Given the description of an element on the screen output the (x, y) to click on. 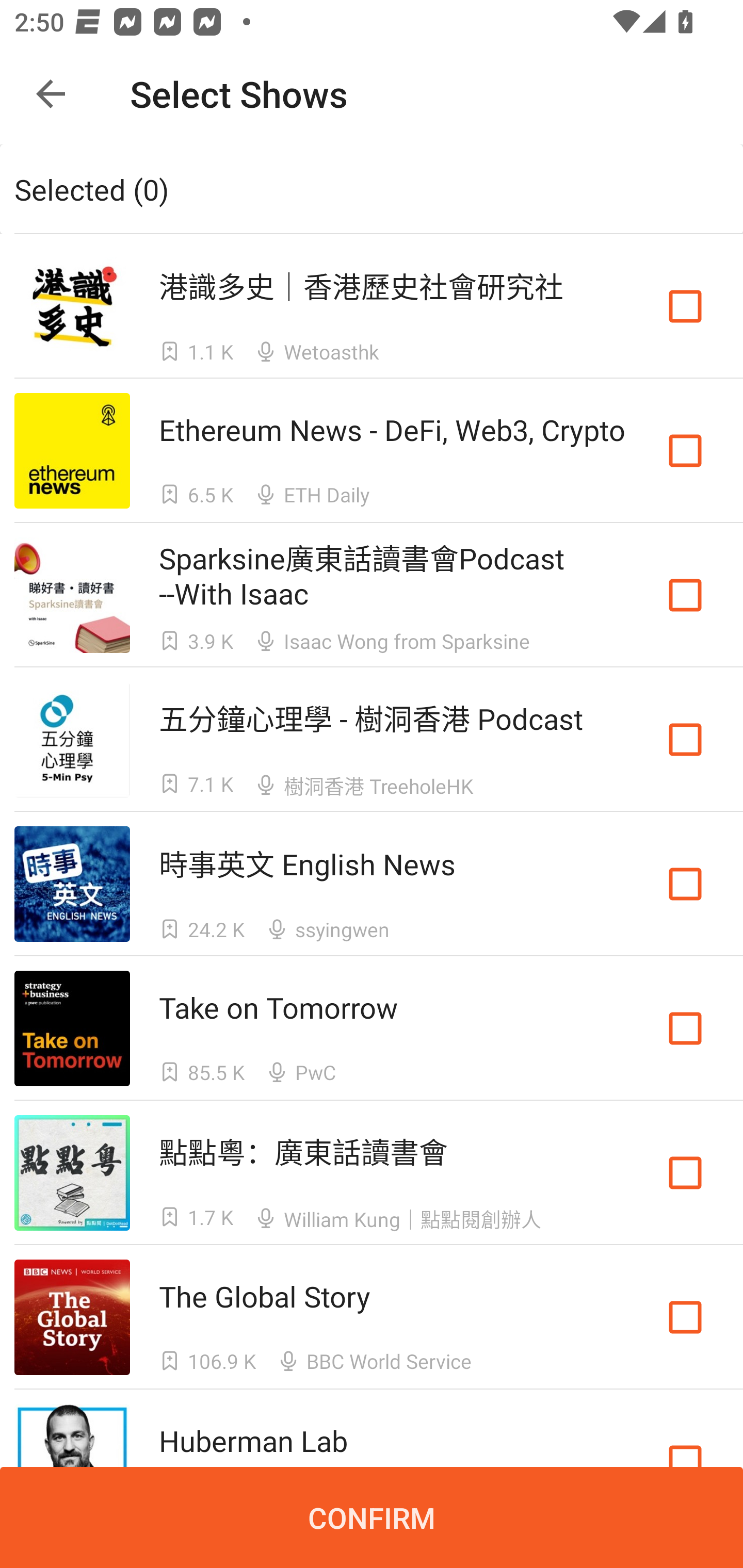
Navigate up (50, 93)
港識多史｜香港歷史社會研究社 港識多史｜香港歷史社會研究社  1.1 K  Wetoasthk (371, 305)
Take on Tomorrow Take on Tomorrow  85.5 K  PwC (371, 1028)
CONFIRM (371, 1517)
